Given the description of an element on the screen output the (x, y) to click on. 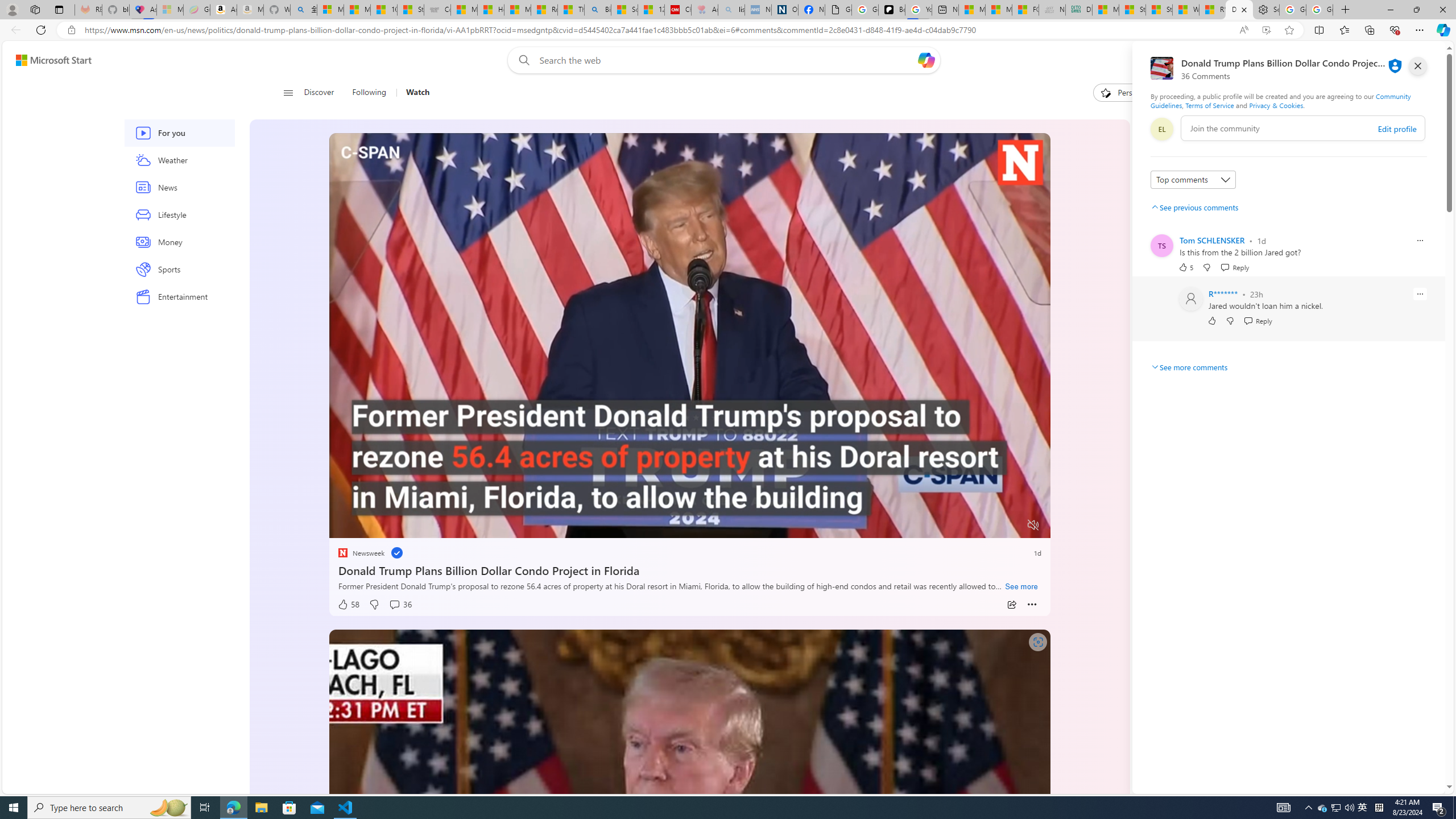
R******* | Trusted Community Engagement and Contributions (1211, 9)
The Associated Press (1165, 316)
Edit profile (1396, 128)
58 Like (347, 604)
